Given the description of an element on the screen output the (x, y) to click on. 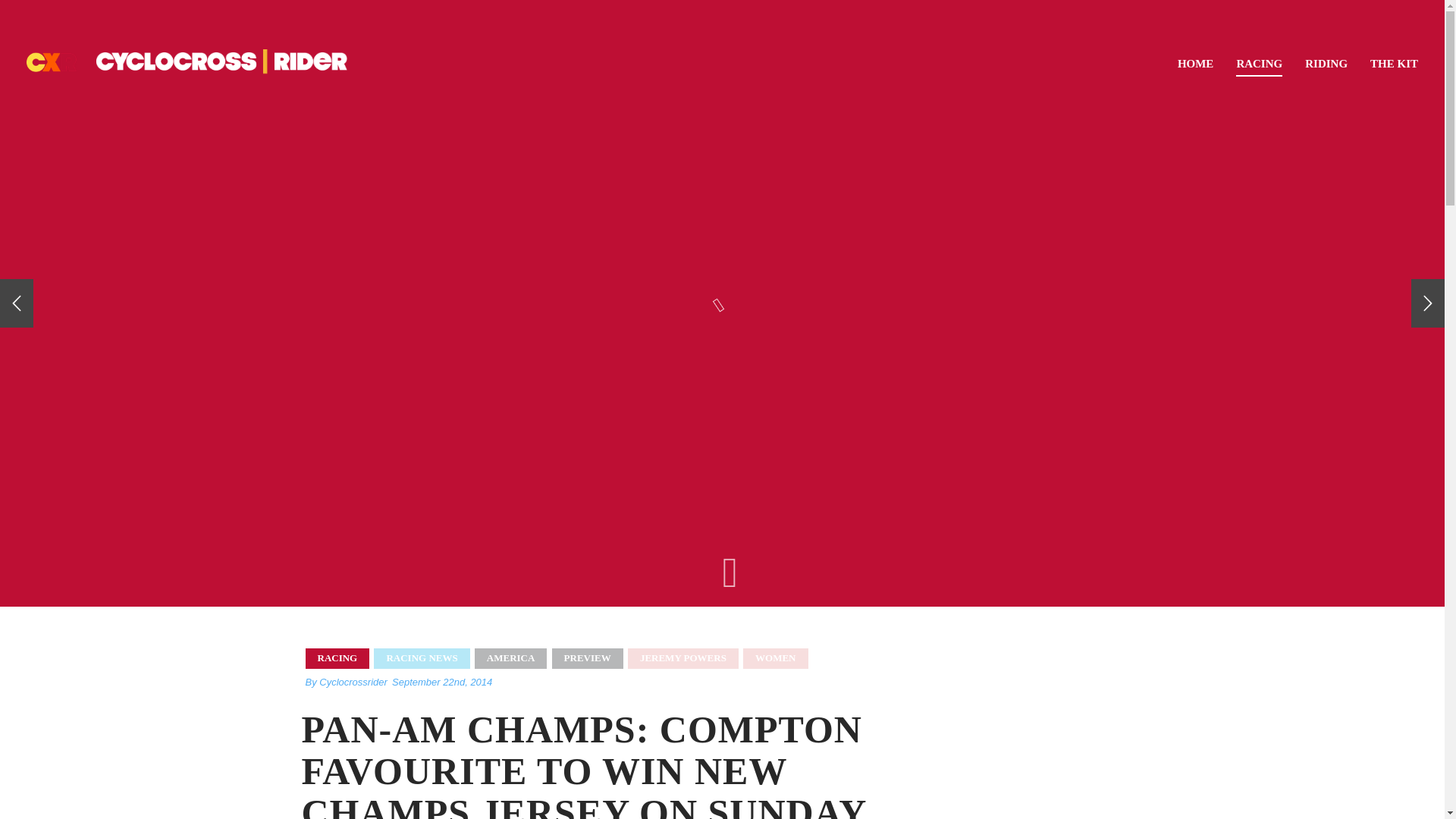
Go to Riding (1326, 60)
Go to Racing (1259, 60)
RIDING (1326, 60)
HOME (1195, 60)
Go to The Kit (1394, 60)
RACING NEWS (421, 658)
WOMEN (775, 658)
RACING (1259, 60)
RACING (336, 658)
AMERICA (510, 658)
JEREMY POWERS (682, 658)
THE KIT (1394, 60)
September 22nd, 2014 (441, 682)
PREVIEW (587, 658)
By Cyclocrossrider (345, 682)
